Given the description of an element on the screen output the (x, y) to click on. 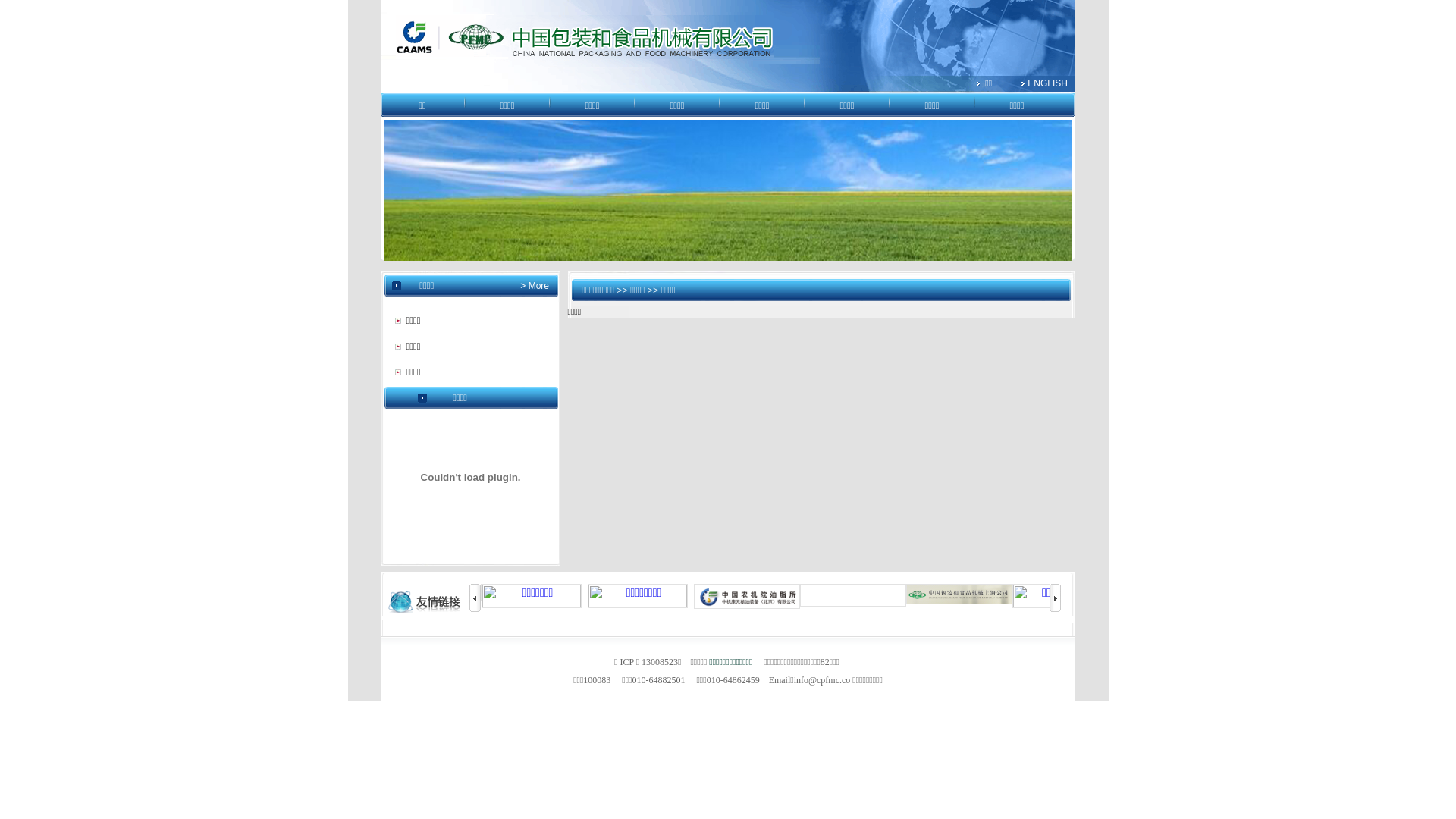
 More Element type: text (537, 285)
ENGLISH Element type: text (1047, 83)
